Given the description of an element on the screen output the (x, y) to click on. 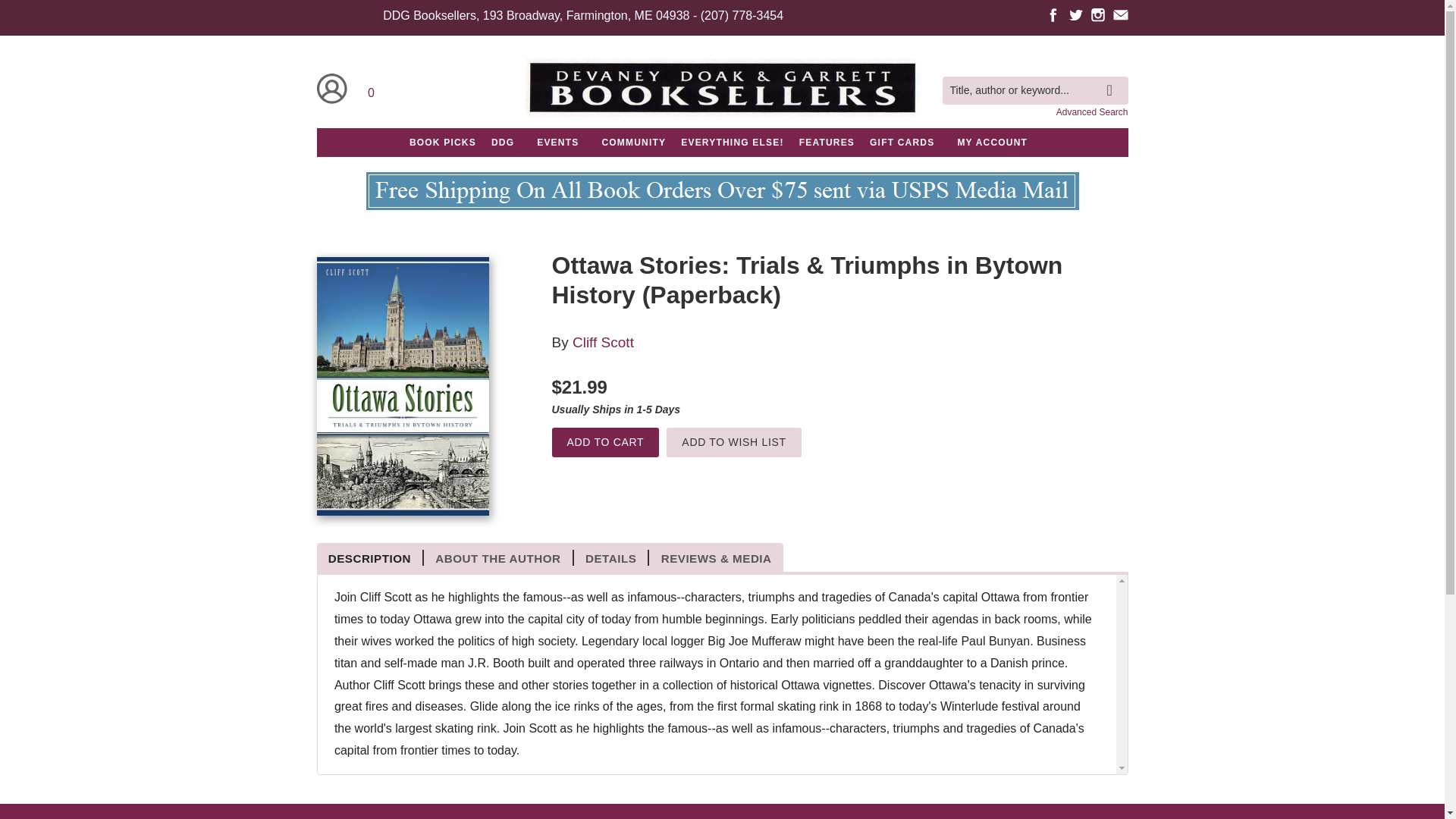
Add to Cart (605, 442)
BOOK PICKS (442, 142)
Title, author or keyword... (1034, 90)
search (1112, 78)
Advanced Search (1092, 112)
Home (721, 90)
search (1112, 78)
COMMUNITY (633, 142)
DDG's community outreach programs! (633, 142)
DDG (502, 142)
EVENTS (557, 142)
DDG's critically entertaining features. (826, 142)
